Given the description of an element on the screen output the (x, y) to click on. 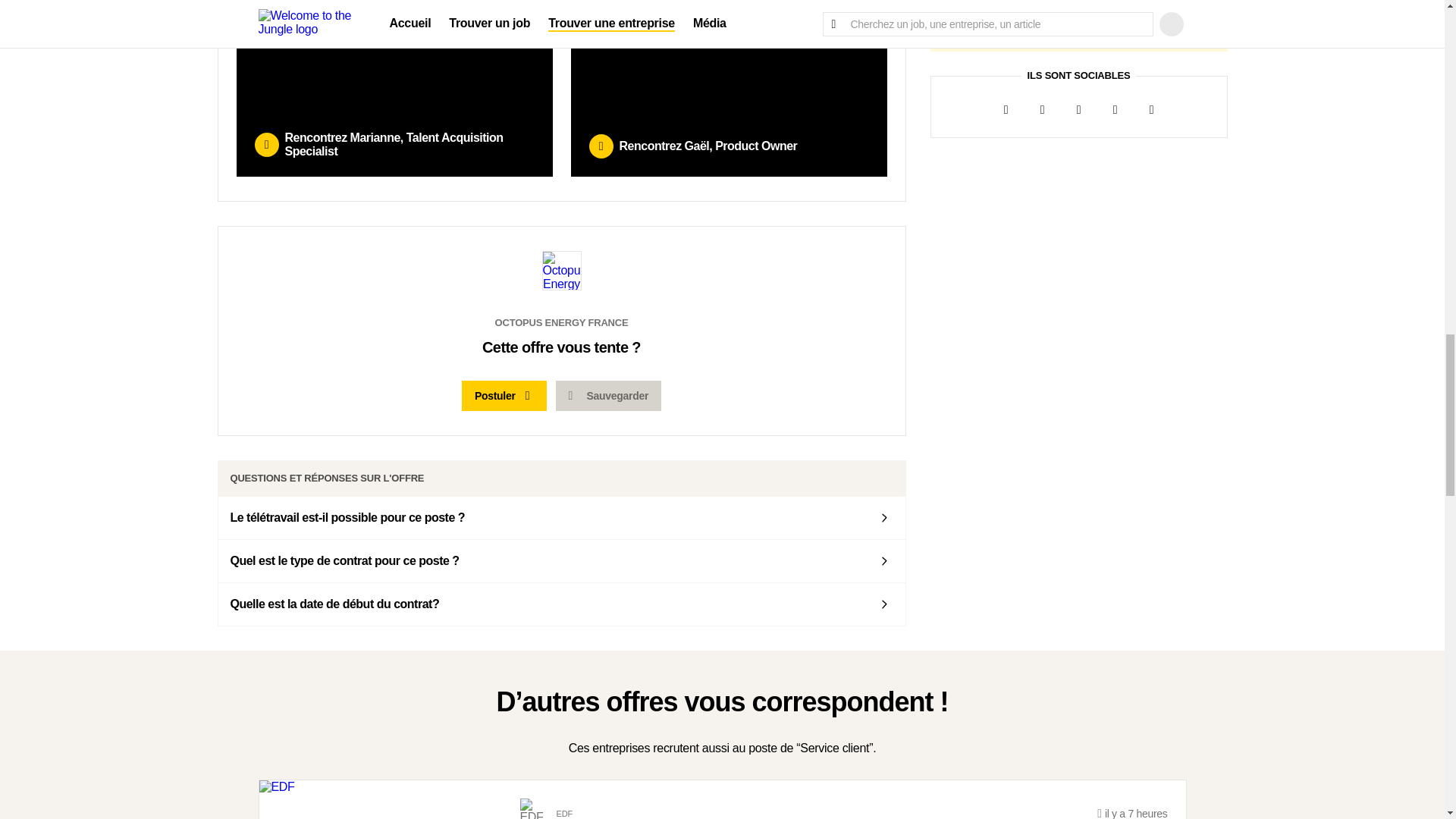
Sauvegarder (608, 395)
OCTOPUS ENERGY FRANCE (561, 341)
Postuler (504, 395)
Quel est le type de contrat pour ce poste ? (561, 560)
